Given the description of an element on the screen output the (x, y) to click on. 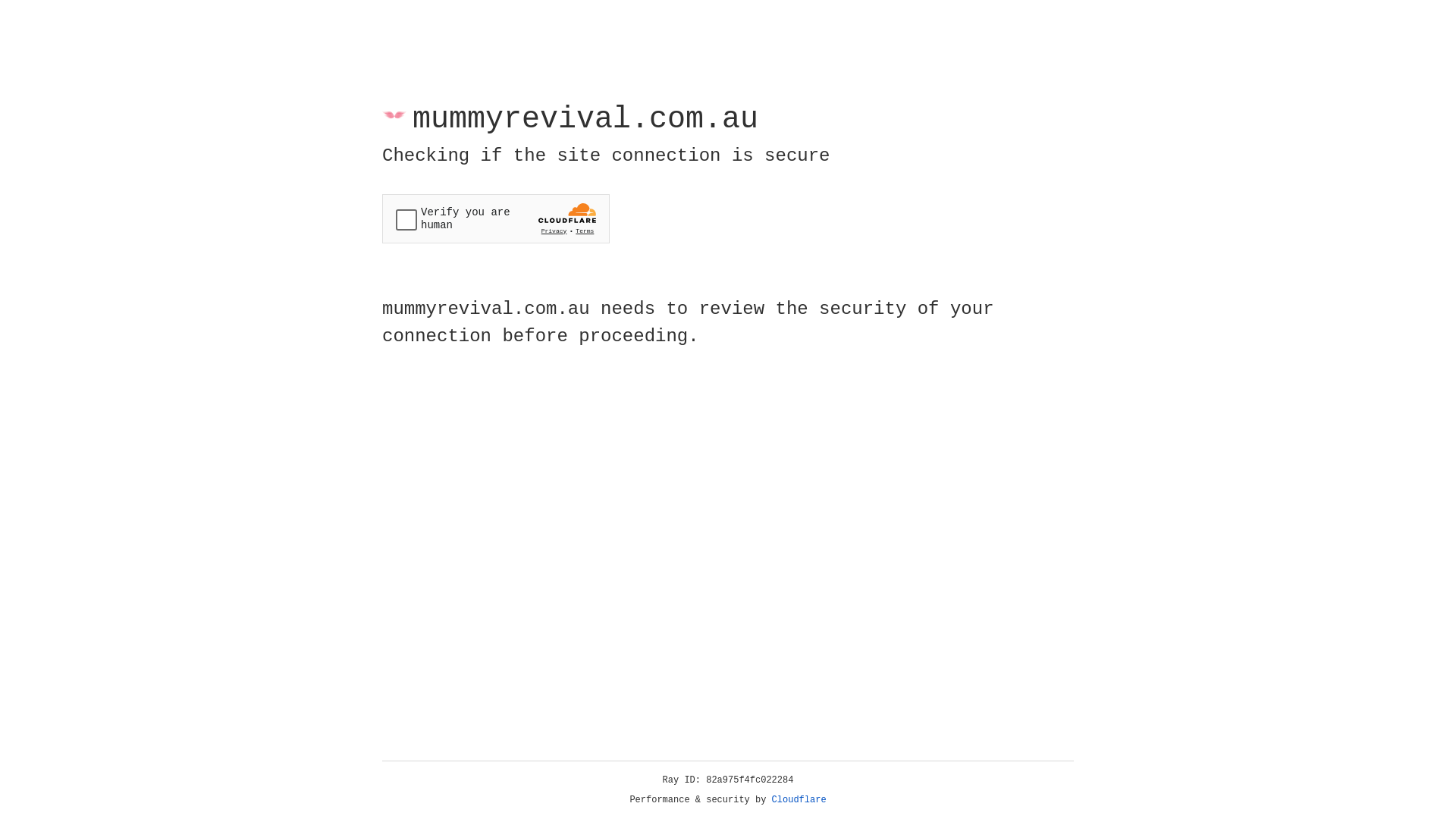
Cloudflare Element type: text (798, 799)
Widget containing a Cloudflare security challenge Element type: hover (495, 218)
